Given the description of an element on the screen output the (x, y) to click on. 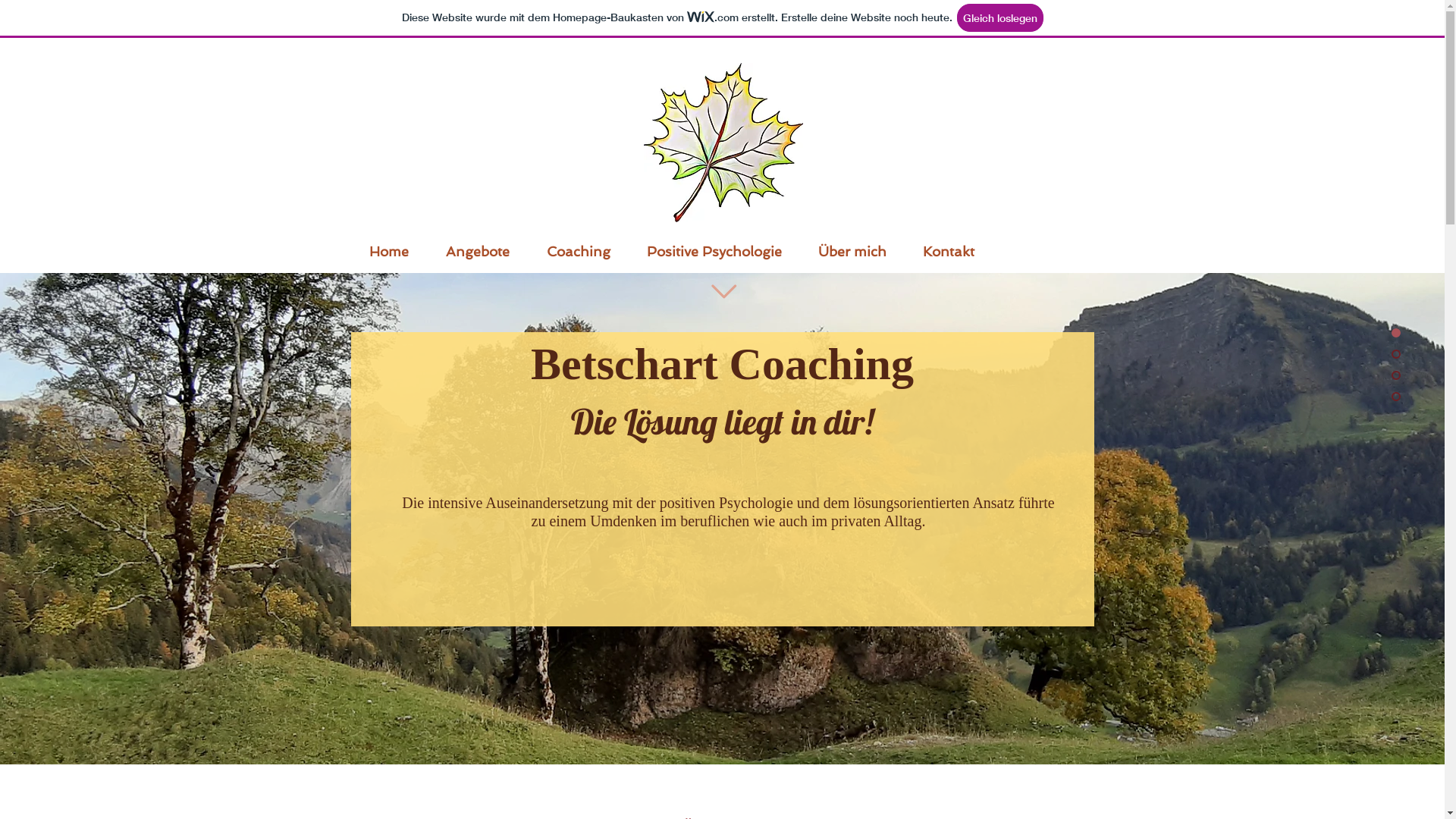
Kontakt Element type: text (947, 249)
Home Element type: text (388, 249)
Positive Psychologie Element type: text (713, 249)
Angebote Element type: text (477, 249)
Coaching Element type: text (577, 249)
